Given the description of an element on the screen output the (x, y) to click on. 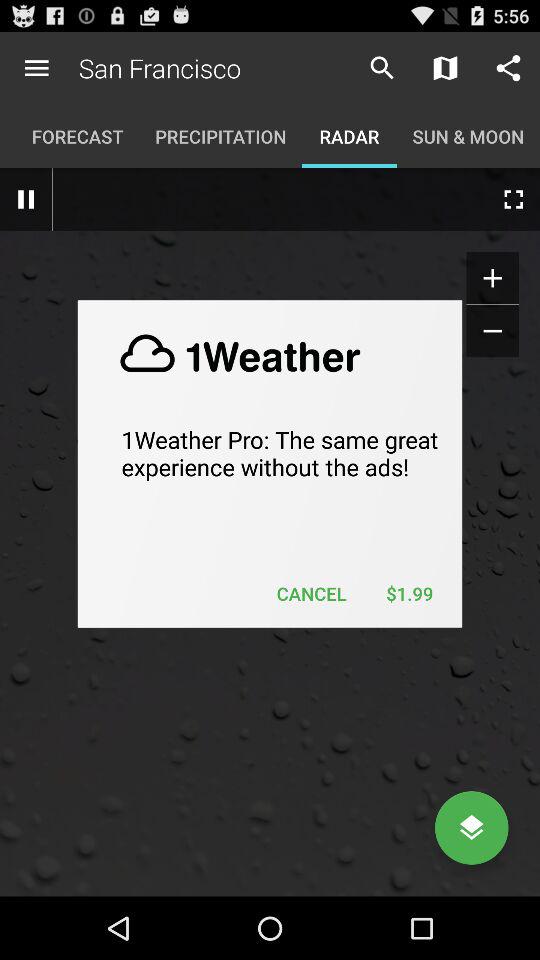
choose $1.99 on the right (409, 593)
